Given the description of an element on the screen output the (x, y) to click on. 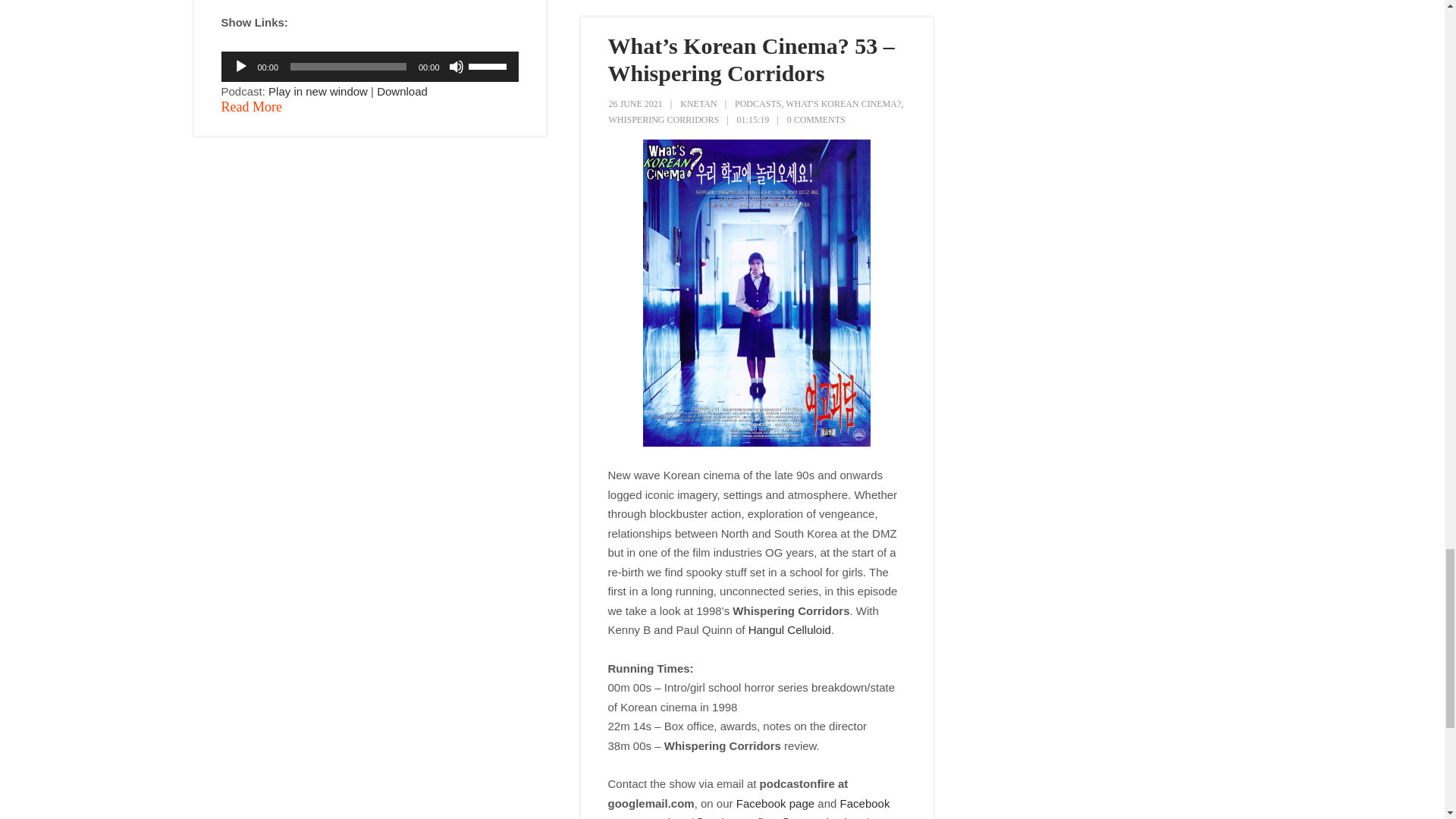
Download (402, 91)
Mute (456, 66)
Play in new window (317, 91)
Play (240, 66)
